Given the description of an element on the screen output the (x, y) to click on. 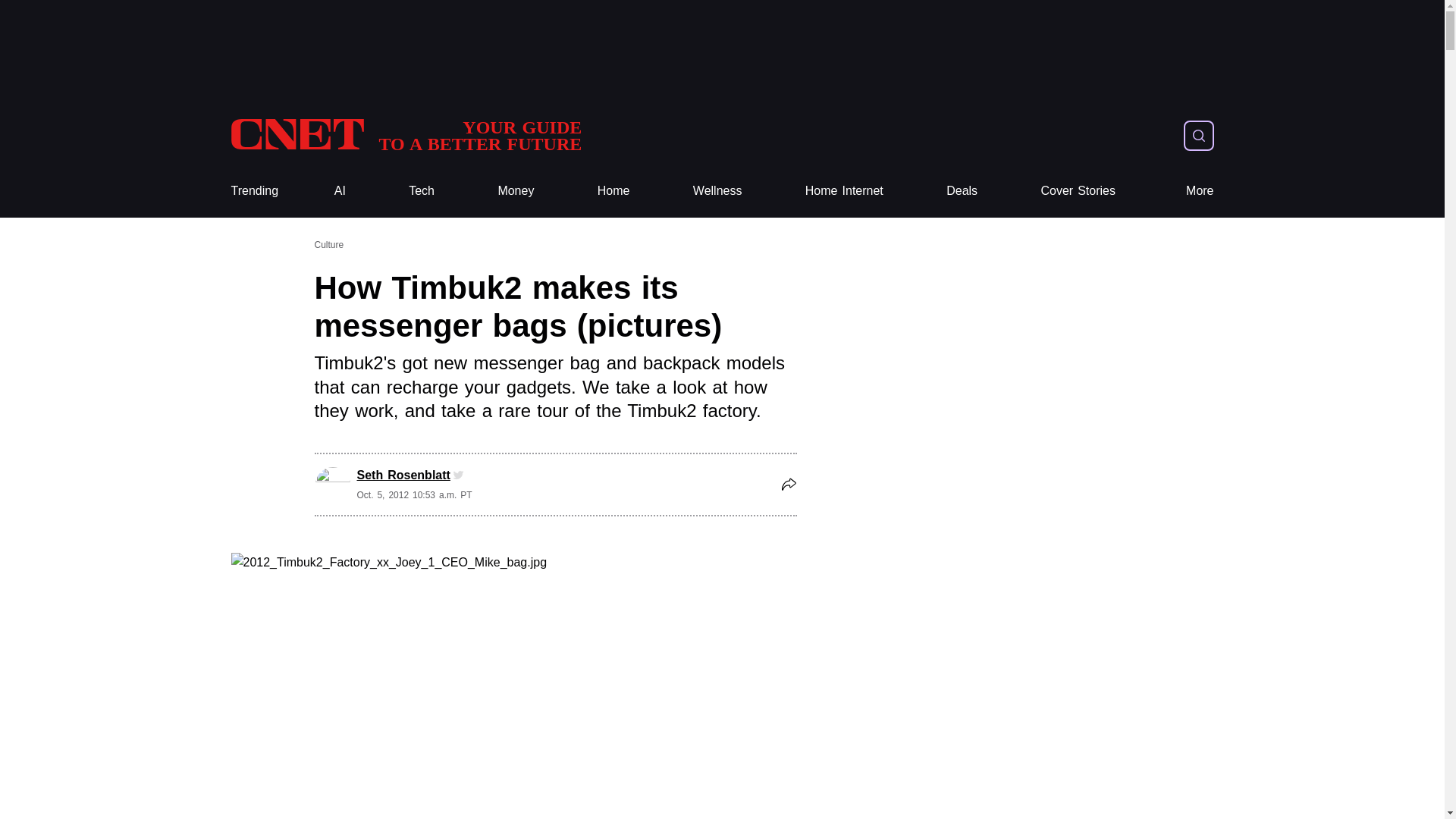
Home (613, 190)
Home (613, 190)
Wellness (717, 190)
CNET (405, 135)
Wellness (717, 190)
Tech (421, 190)
More (1199, 190)
Money (515, 190)
Tech (421, 190)
Money (515, 190)
